Given the description of an element on the screen output the (x, y) to click on. 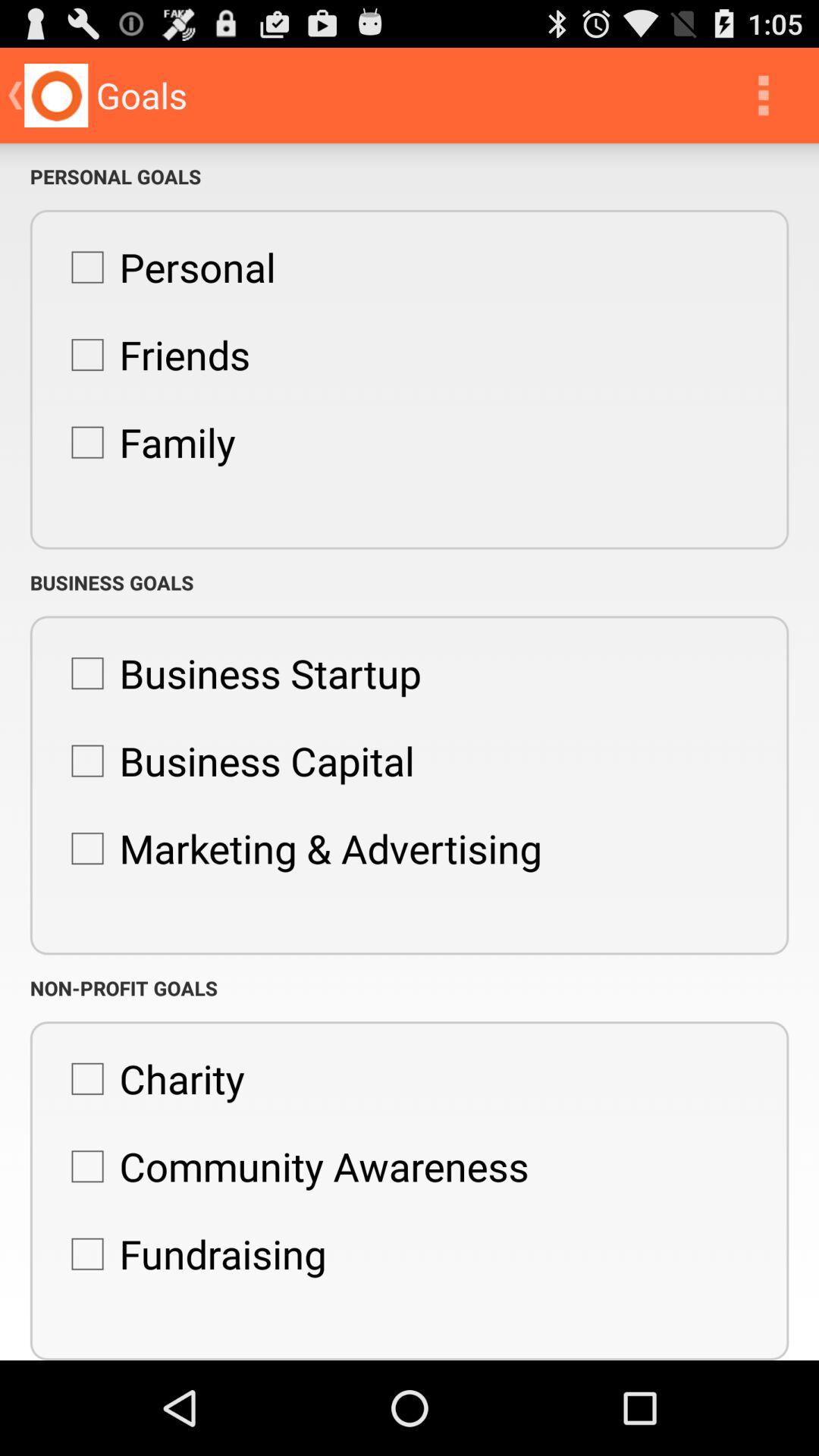
press item below the personal (152, 354)
